Given the description of an element on the screen output the (x, y) to click on. 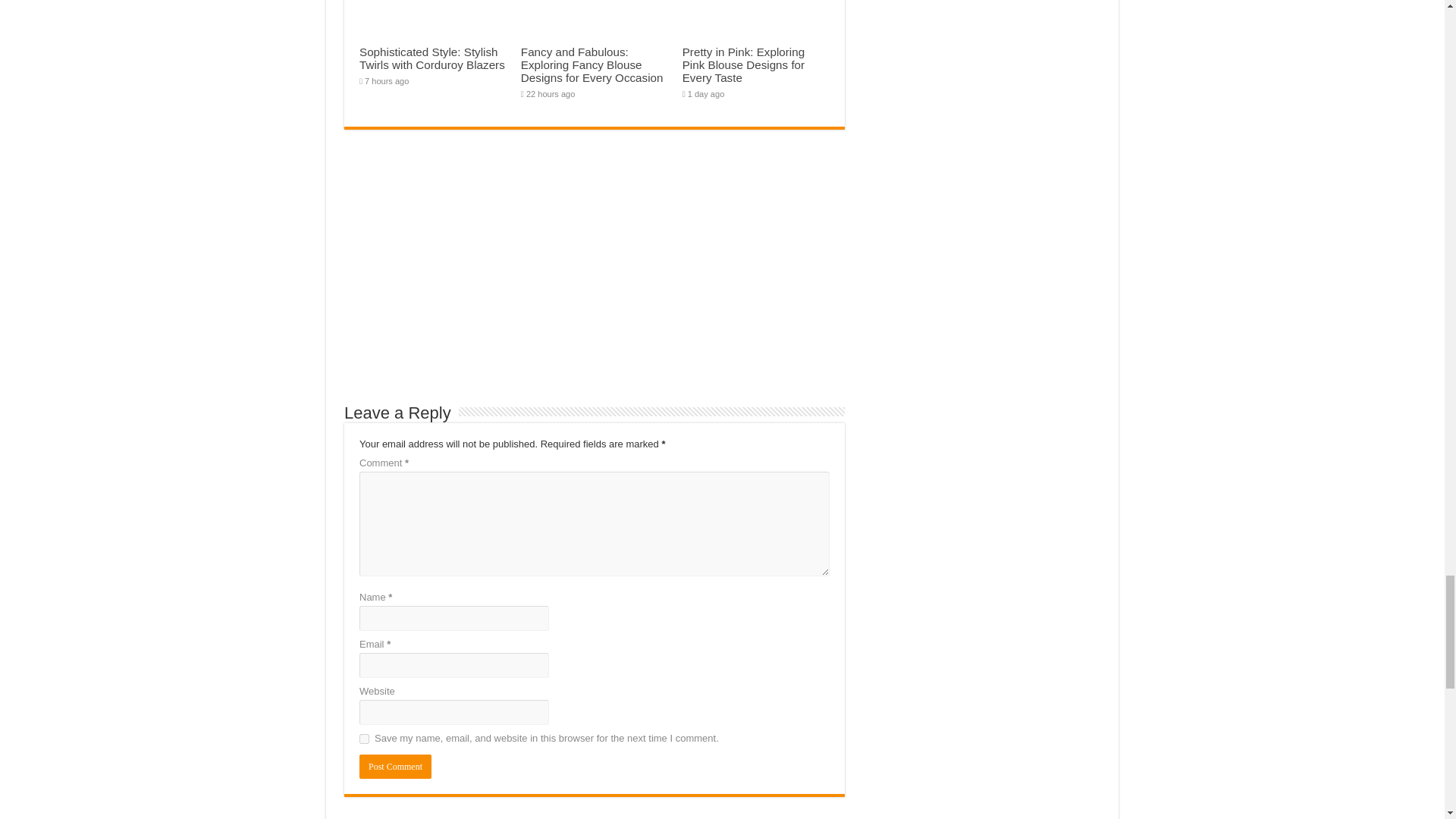
yes (364, 738)
Post Comment (394, 766)
